Given the description of an element on the screen output the (x, y) to click on. 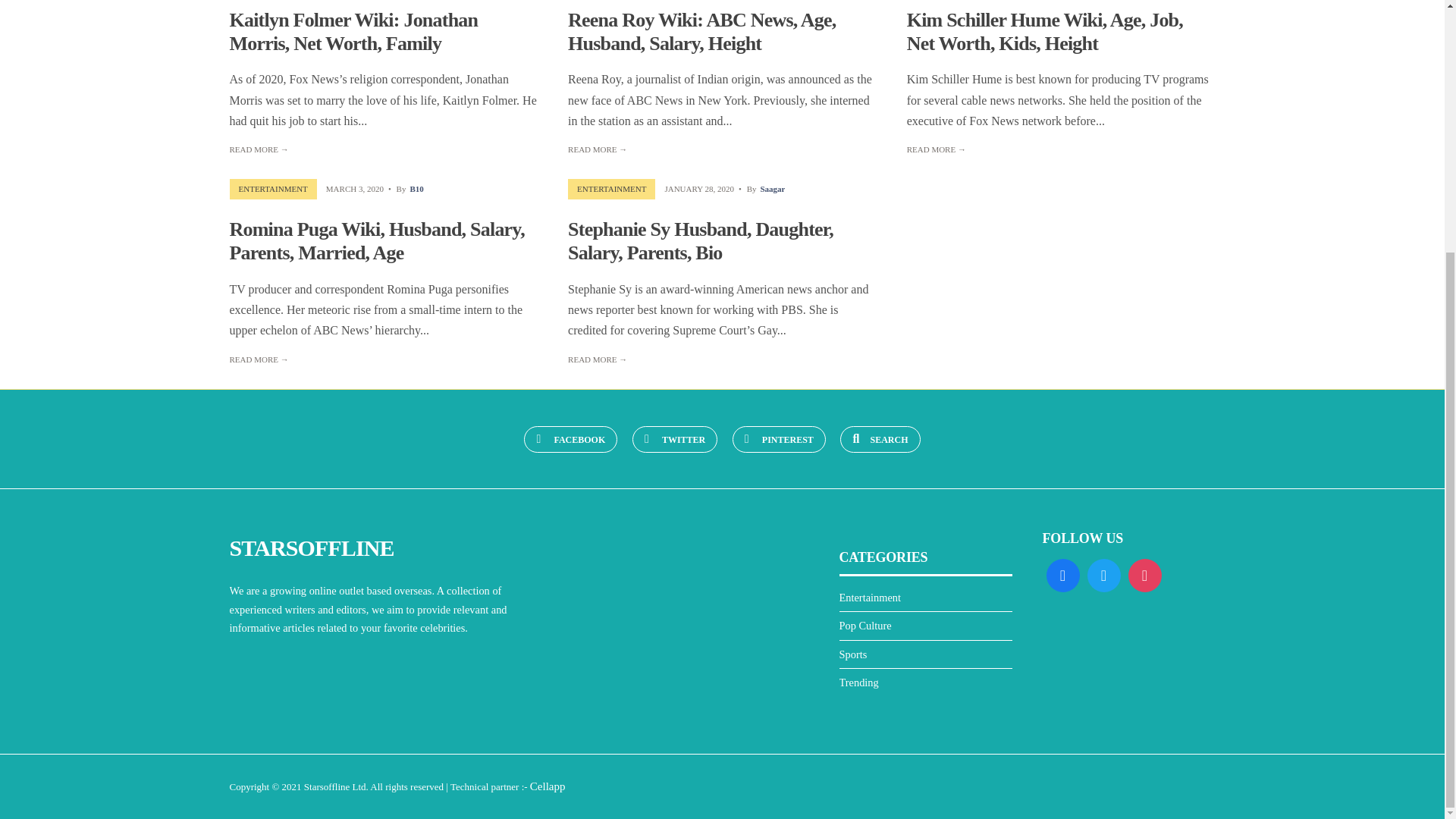
ENTERTAINMENT (272, 188)
TWITTER (674, 438)
ENTERTAINMENT (611, 188)
B10 (416, 188)
SEARCH (880, 438)
PINTEREST (778, 438)
Saagar (772, 188)
Kim Schiller Hume Wiki, Age, Job, Net Worth, Kids, Height (1044, 32)
STARSOFFLINE (310, 547)
Pinterest (778, 438)
Posts by B10 (416, 188)
Posts by Saagar (772, 188)
Reena Roy Wiki: ABC News, Age, Husband, Salary, Height (701, 32)
Stephanie Sy Husband, Daughter, Salary, Parents, Bio (699, 241)
Romina Puga Wiki, Husband, Salary, Parents, Married, Age (376, 241)
